Given the description of an element on the screen output the (x, y) to click on. 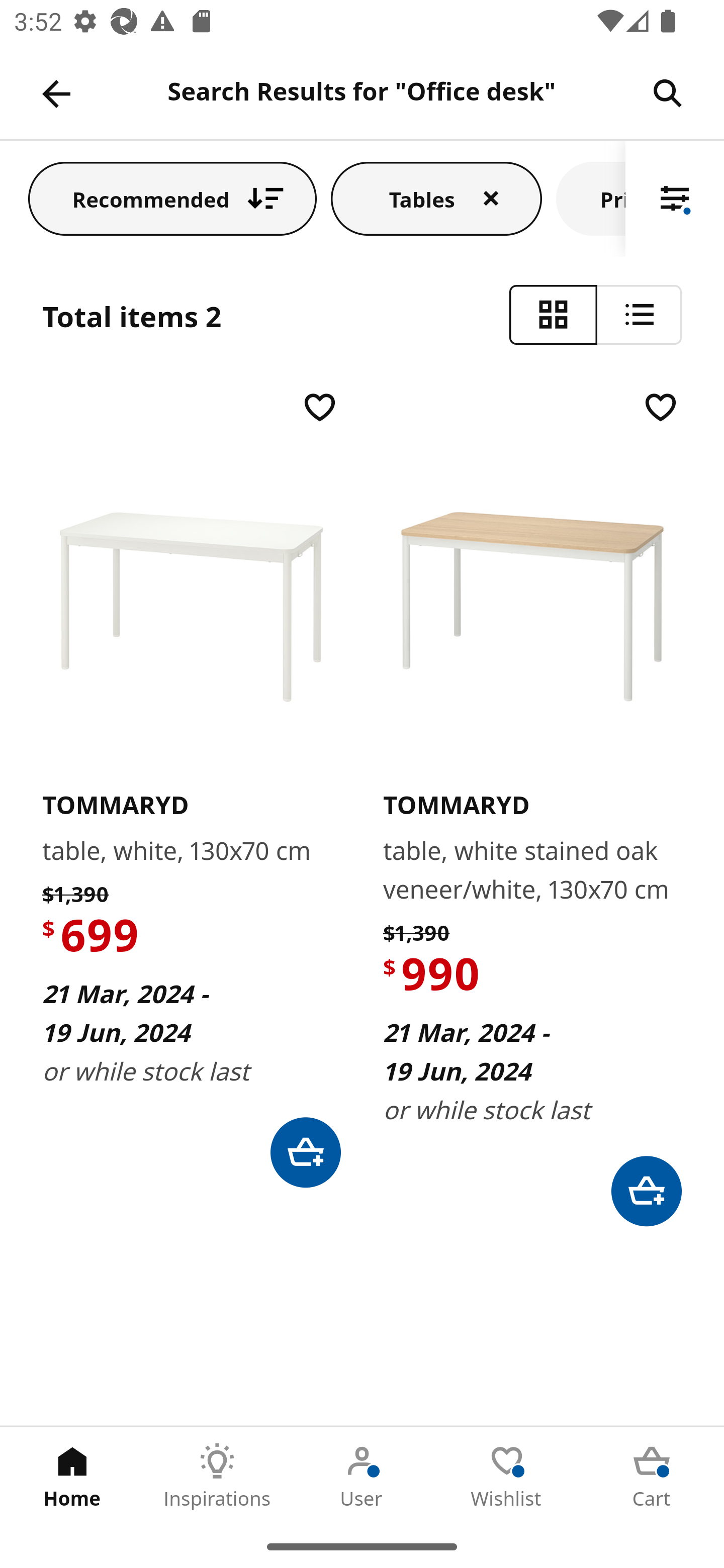
Recommended (172, 198)
Tables (436, 198)
Home
Tab 1 of 5 (72, 1476)
Inspirations
Tab 2 of 5 (216, 1476)
User
Tab 3 of 5 (361, 1476)
Wishlist
Tab 4 of 5 (506, 1476)
Cart
Tab 5 of 5 (651, 1476)
